Given the description of an element on the screen output the (x, y) to click on. 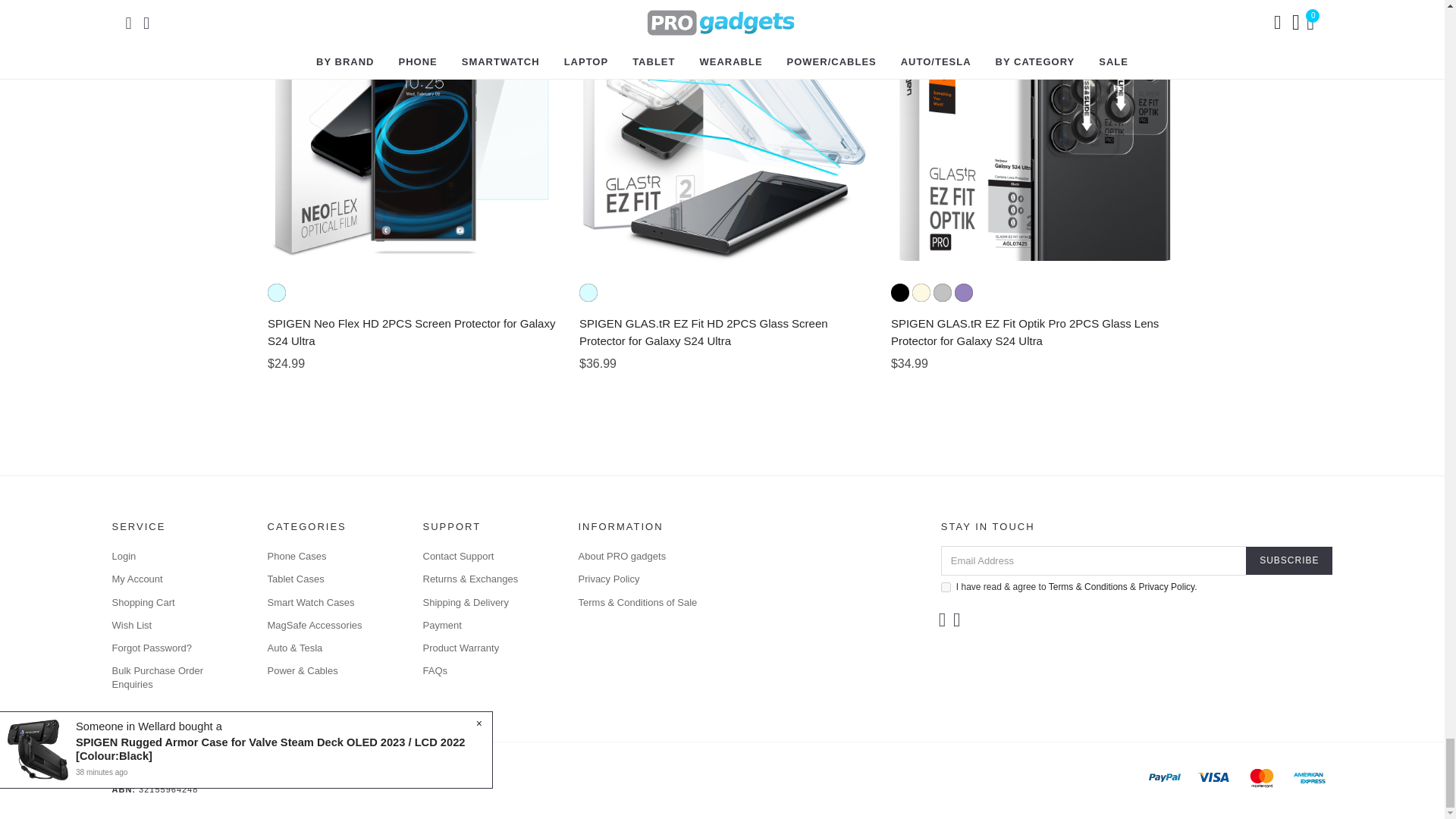
Subscribe (1289, 560)
y (945, 587)
